Given the description of an element on the screen output the (x, y) to click on. 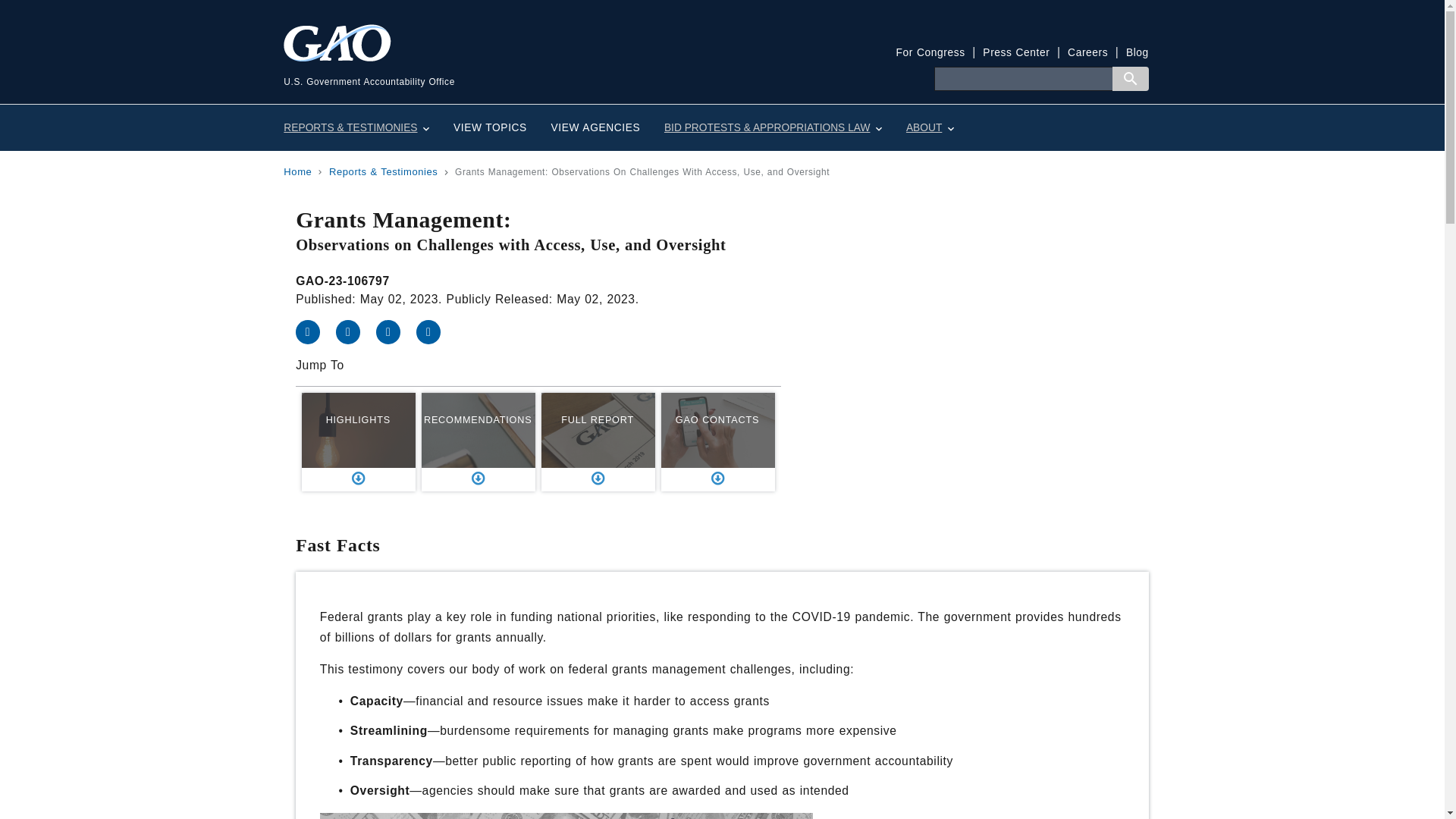
Share on LinkedIn (395, 331)
HIGHLIGHTS (357, 442)
Home (502, 66)
VIEW TOPICS (489, 127)
Share on Twitter (355, 331)
VIEW AGENCIES (595, 127)
Share by email (434, 331)
GAO CONTACTS (717, 442)
ABOUT (929, 127)
Home (297, 171)
